Given the description of an element on the screen output the (x, y) to click on. 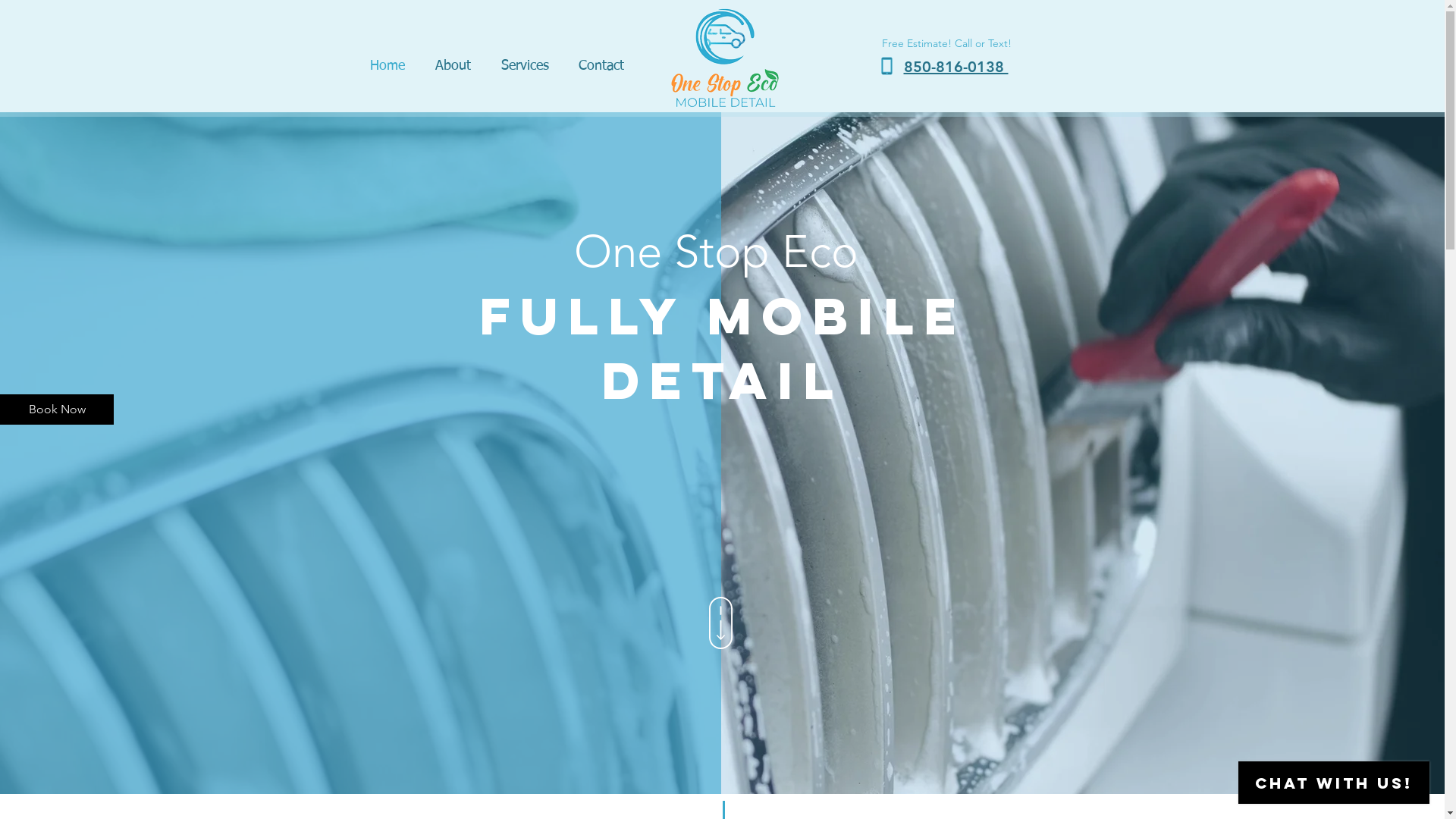
Home Element type: text (382, 65)
Contact Element type: text (596, 65)
Free Estimate! Call or Text! Element type: text (946, 43)
850-816-0138  Element type: text (955, 66)
Book Now Element type: text (56, 409)
About Element type: text (448, 65)
Services Element type: text (521, 65)
